Given the description of an element on the screen output the (x, y) to click on. 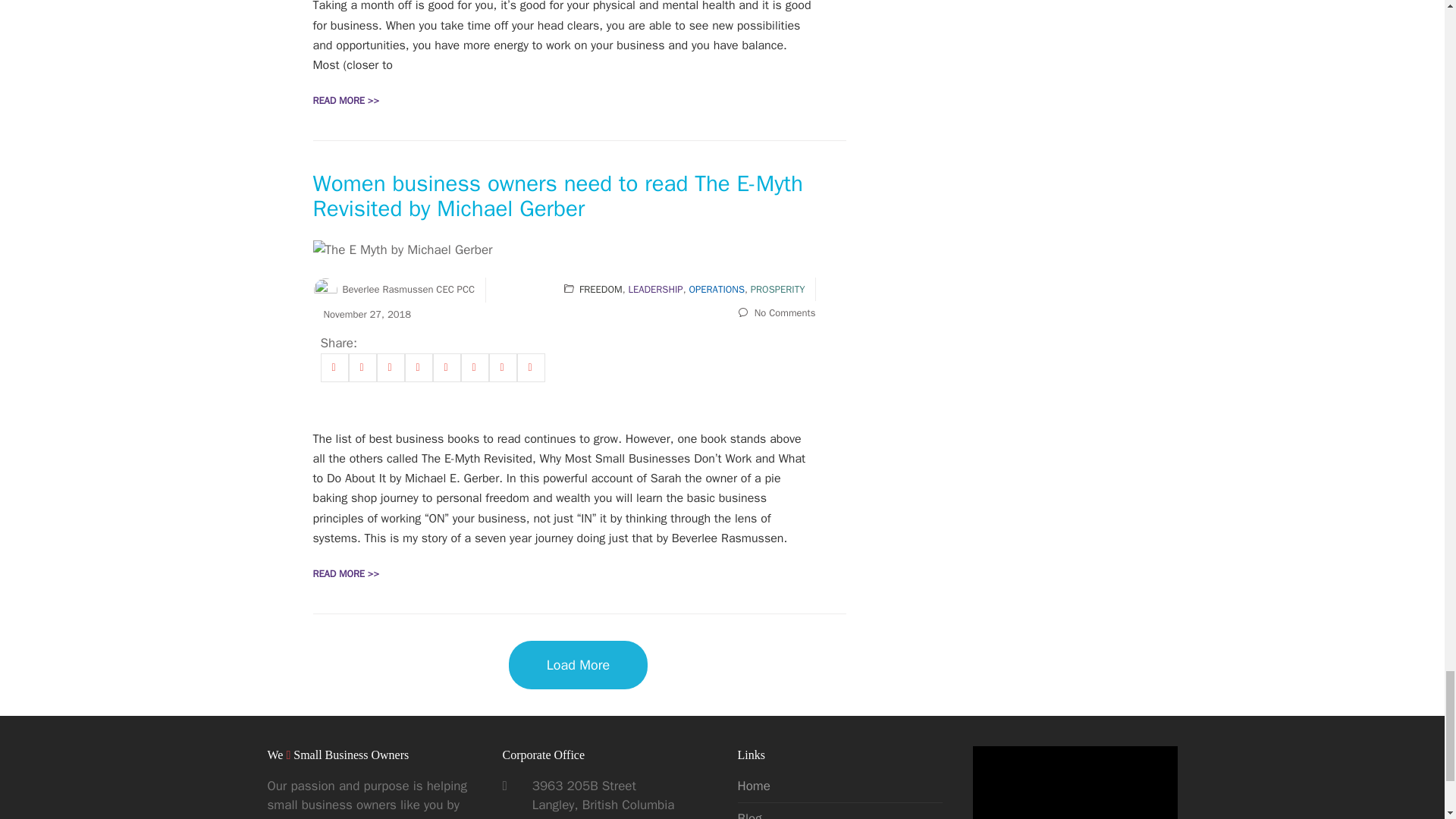
vimeo Video Player (1074, 782)
